Given the description of an element on the screen output the (x, y) to click on. 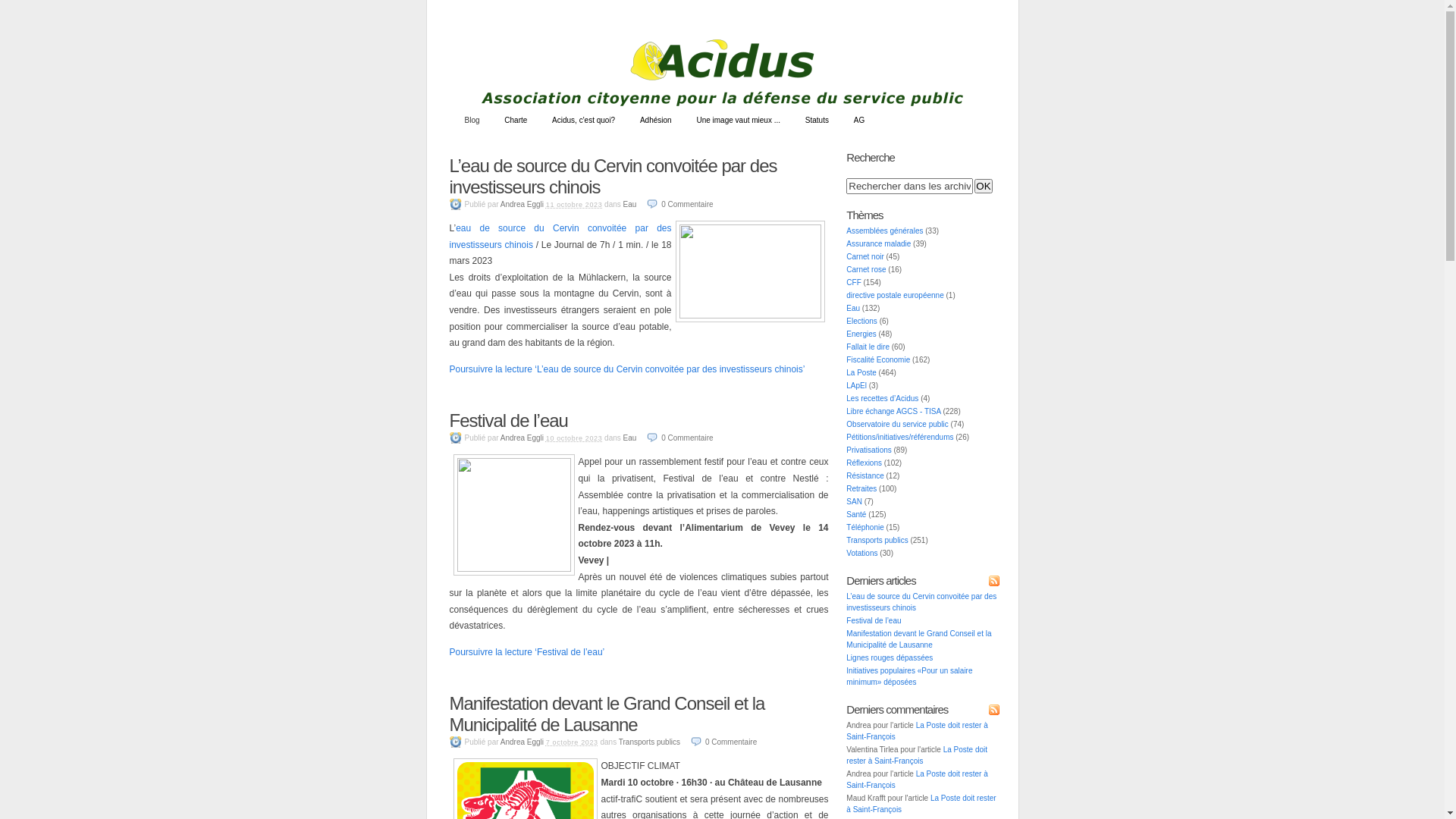
Energies Element type: text (860, 333)
Acidus, c'est quoi? Element type: text (583, 120)
SAN Element type: text (854, 501)
Eau Element type: text (852, 308)
Andrea Eggli Element type: text (521, 741)
Une image vaut mieux ... Element type: text (737, 120)
Retraites Element type: text (861, 488)
Carnet noir Element type: text (864, 256)
Transports publics Element type: text (649, 741)
Carnet rose Element type: text (865, 269)
Blog Element type: text (472, 120)
Andrea Eggli Element type: text (521, 437)
0 Commentaire Element type: text (679, 204)
La Poste Element type: text (860, 372)
Charte Element type: text (515, 120)
CFF Element type: text (853, 282)
Statuts Element type: text (816, 120)
Andrea Eggli Element type: text (521, 204)
Eau Element type: text (630, 437)
Assurance maladie Element type: text (878, 243)
Elections Element type: text (861, 320)
LApEl Element type: text (856, 385)
Privatisations Element type: text (868, 449)
Votations Element type: text (861, 553)
Transports publics Element type: text (876, 540)
0 Commentaire Element type: text (679, 437)
AG Element type: text (858, 120)
Eau Element type: text (630, 204)
Fallait le dire Element type: text (867, 346)
Observatoire du service public Element type: text (897, 424)
0 Commentaire Element type: text (723, 741)
OK Element type: text (982, 185)
